Given the description of an element on the screen output the (x, y) to click on. 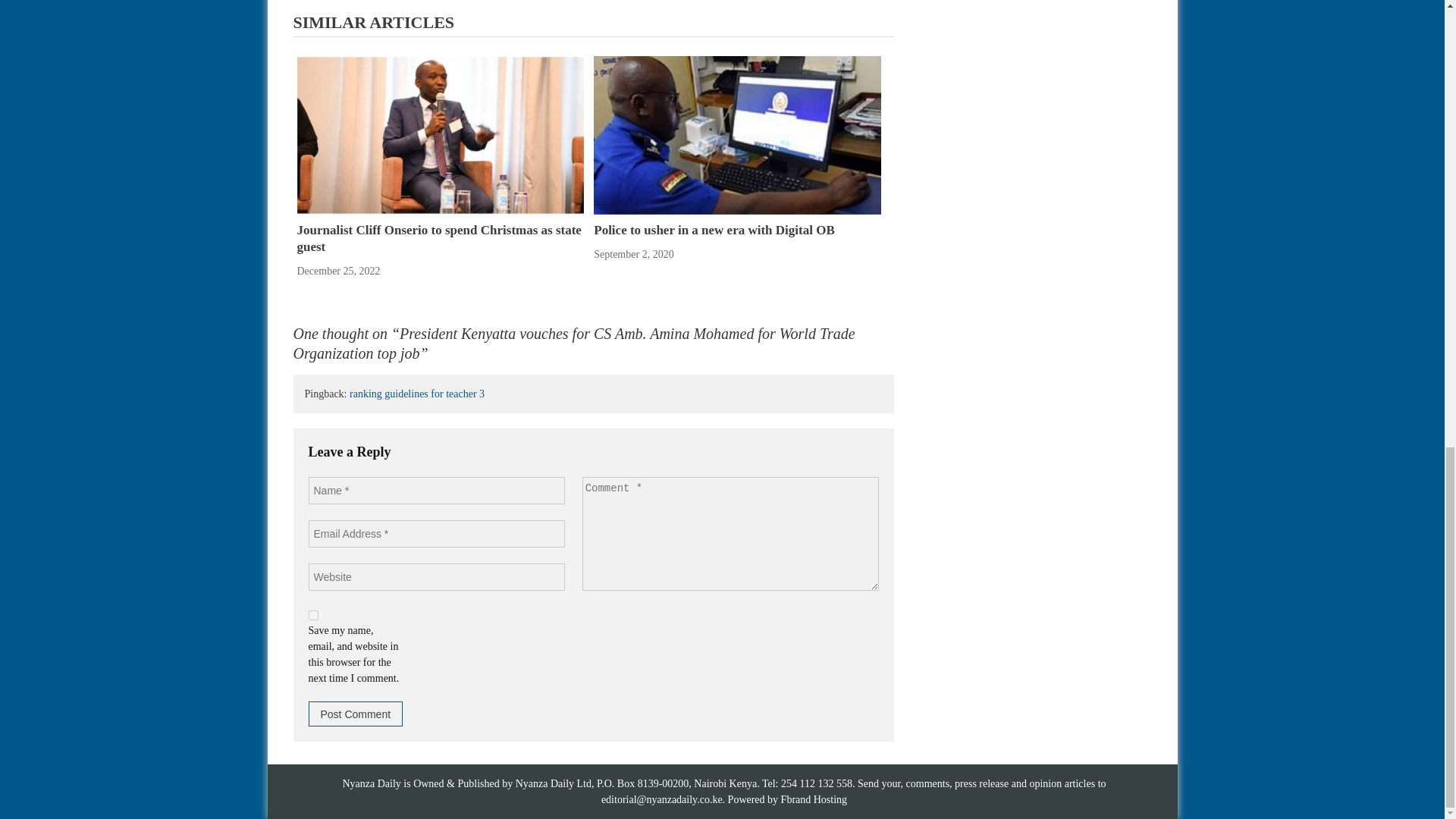
Police to usher in a new era with Digital OB (737, 134)
Police to usher in a new era with Digital OB (714, 229)
Journalist Cliff Onserio to spend Christmas as state guest (440, 134)
Post Comment (355, 713)
Journalist Cliff Onserio to spend Christmas as state guest (440, 134)
December 25, 2022 (338, 270)
Journalist Cliff Onserio to spend Christmas as state guest (438, 237)
Police to usher in a new era with Digital OB (737, 134)
yes (312, 614)
Journalist Cliff Onserio to spend Christmas as state guest (438, 237)
